Given the description of an element on the screen output the (x, y) to click on. 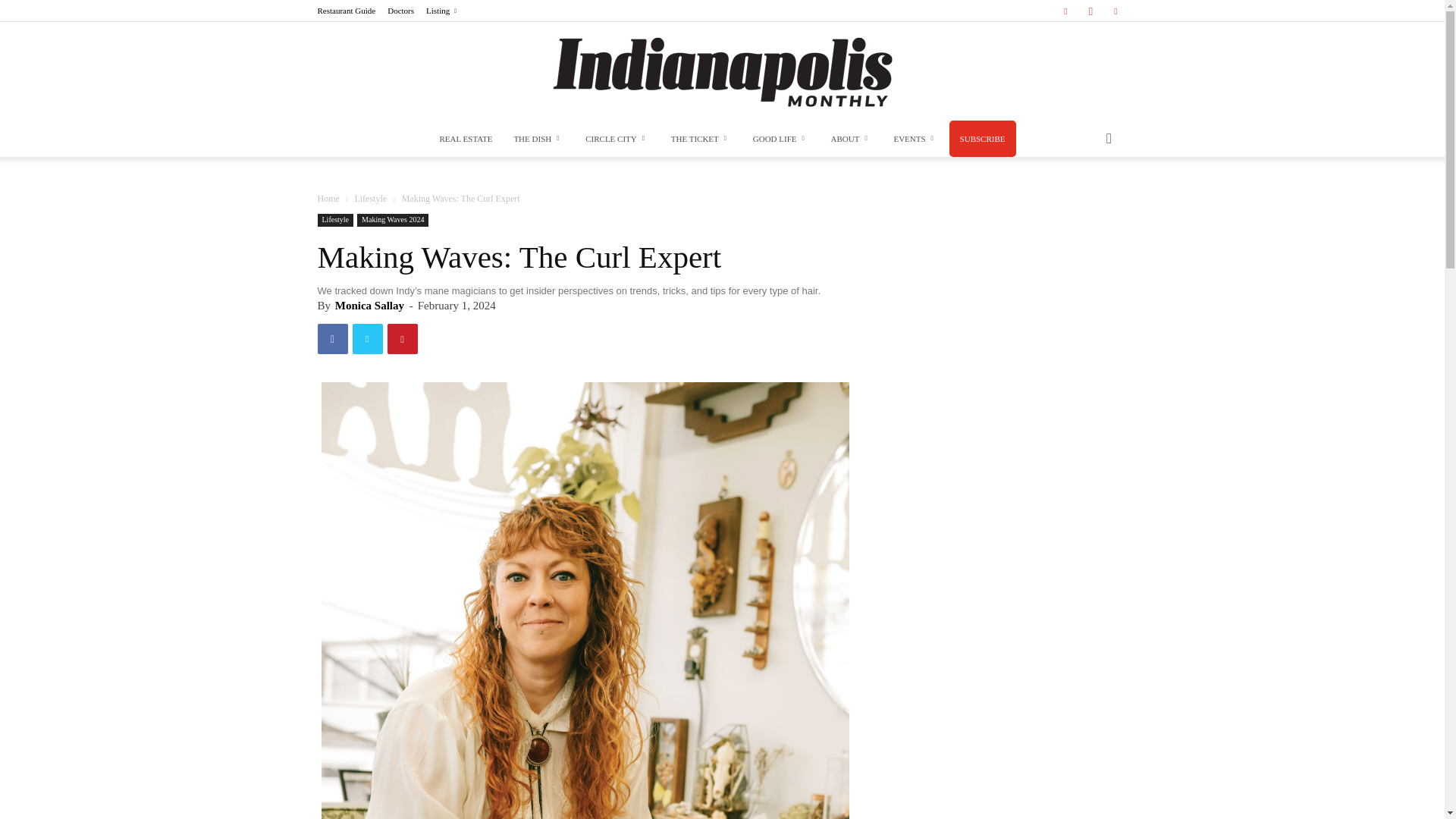
Facebook (1065, 10)
Instagram (1090, 10)
View all posts in Lifestyle (370, 198)
Twitter (1114, 10)
Posts by Monica Sallay (369, 305)
